Given the description of an element on the screen output the (x, y) to click on. 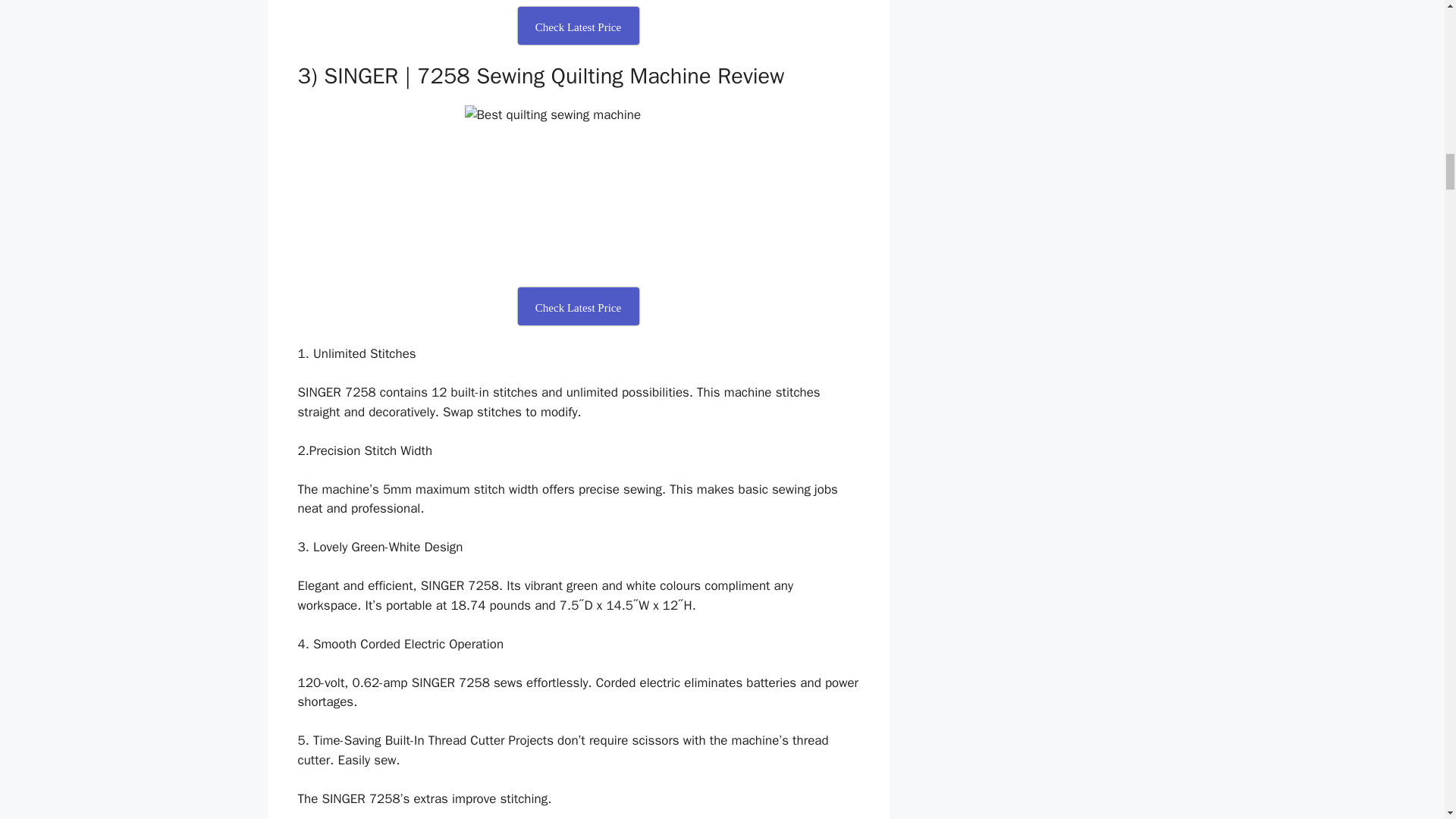
Check Latest Price (577, 306)
Check Latest Price (577, 25)
